Given the description of an element on the screen output the (x, y) to click on. 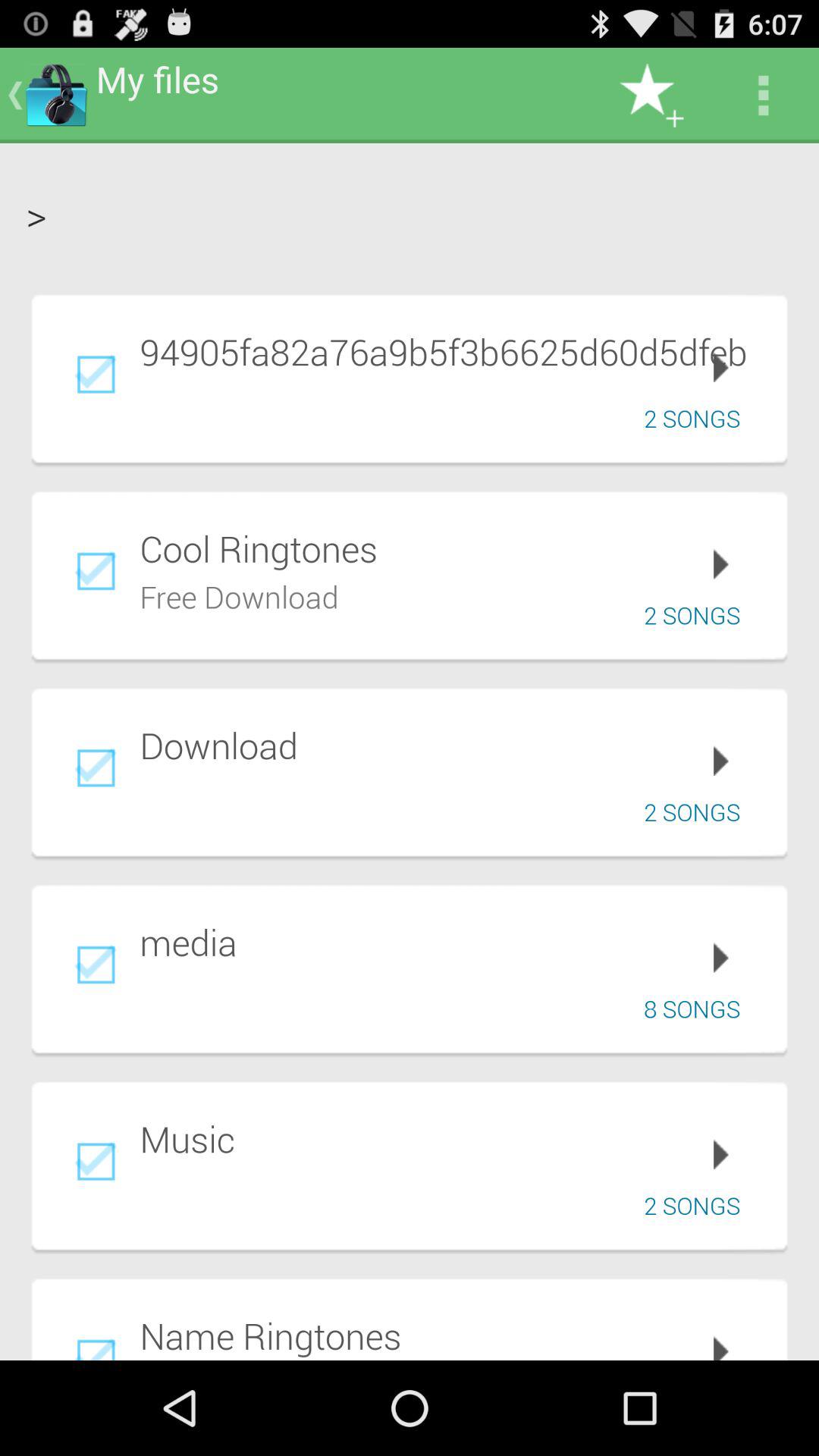
select name ringtones icon (452, 1335)
